Given the description of an element on the screen output the (x, y) to click on. 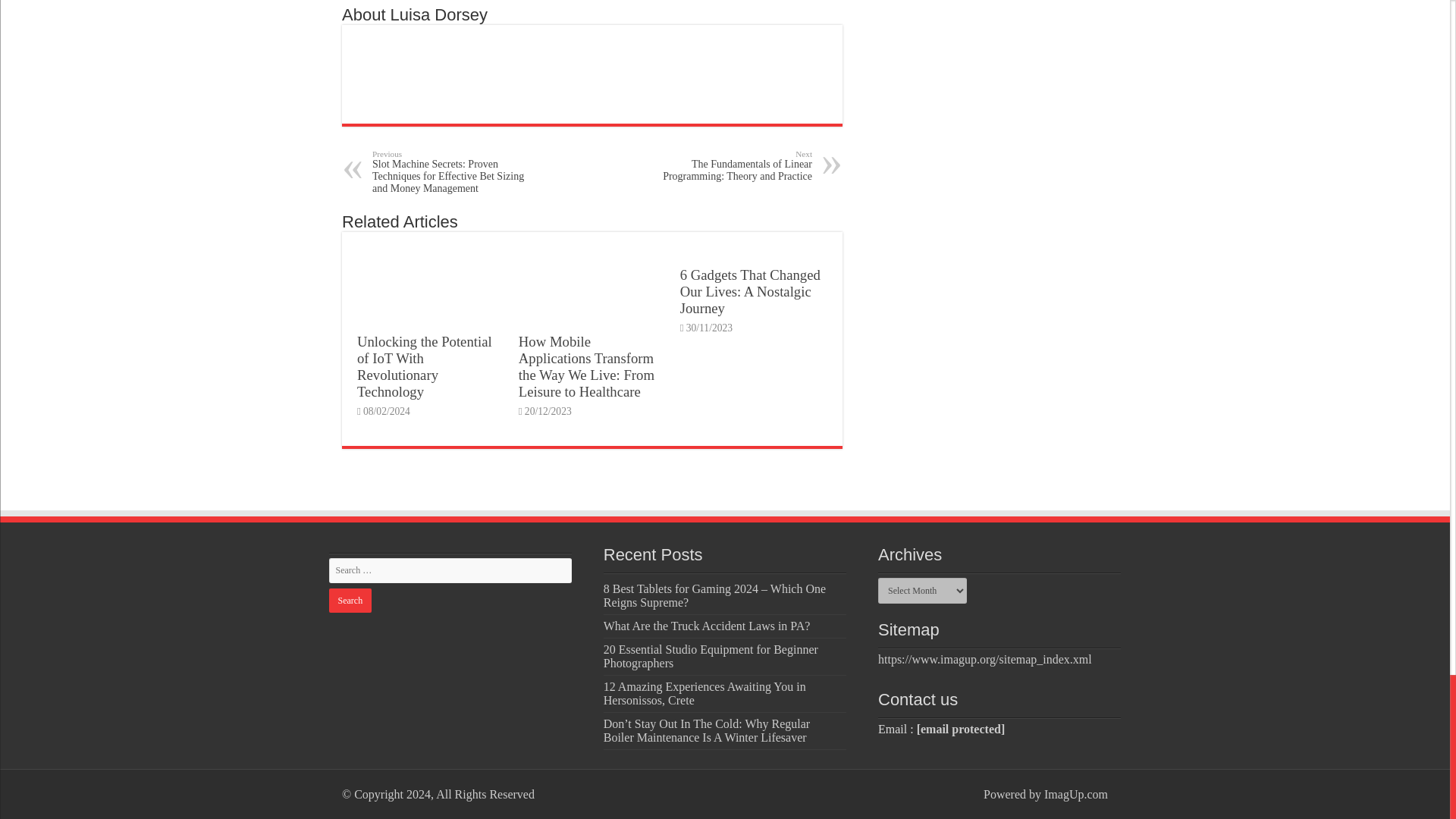
Search (350, 600)
Search (350, 600)
